Given the description of an element on the screen output the (x, y) to click on. 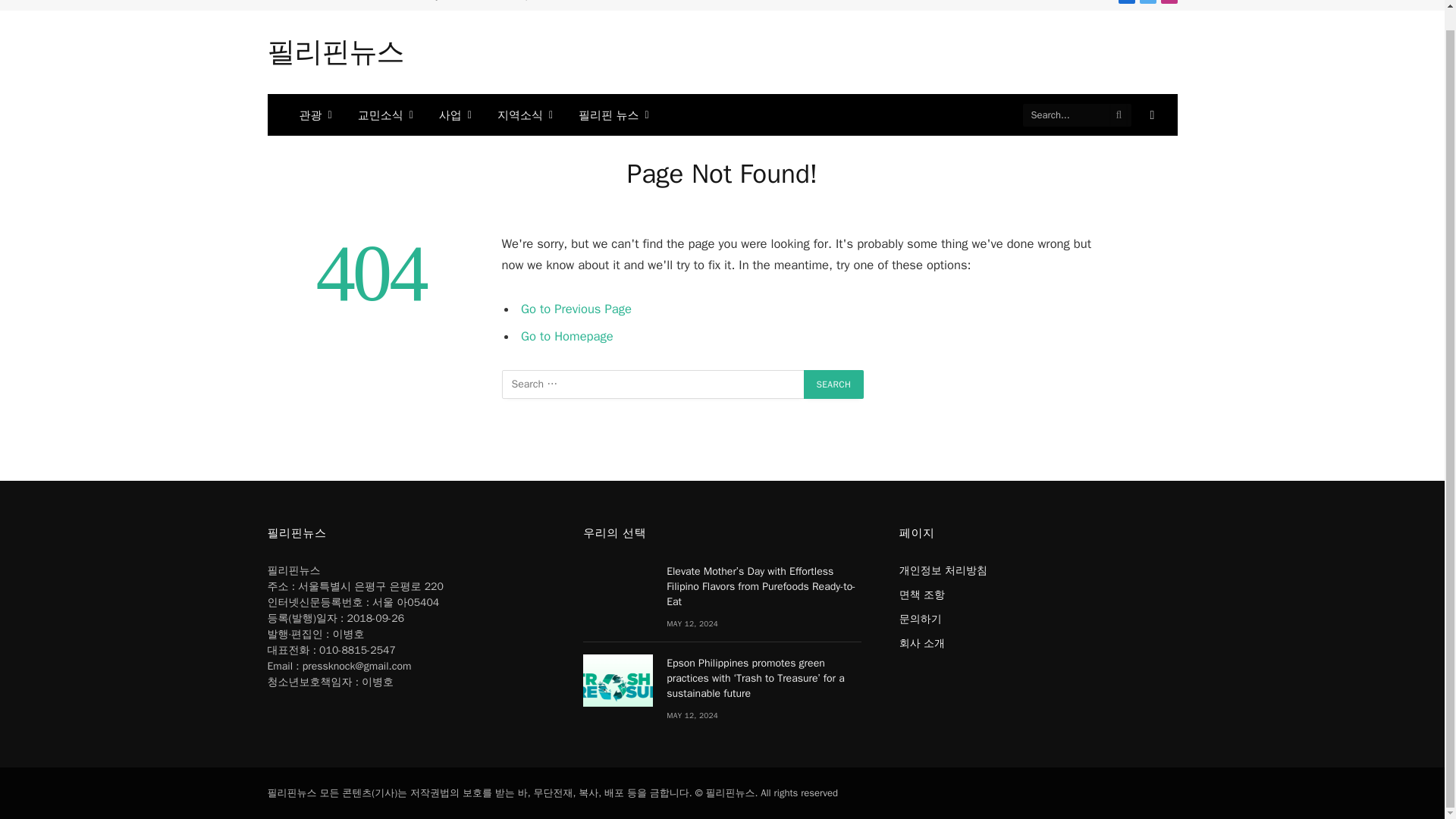
Search (833, 384)
Search (833, 384)
Instagram (1168, 2)
Switch to Dark Design - easier on eyes. (1149, 114)
Facebook (1126, 2)
